Given the description of an element on the screen output the (x, y) to click on. 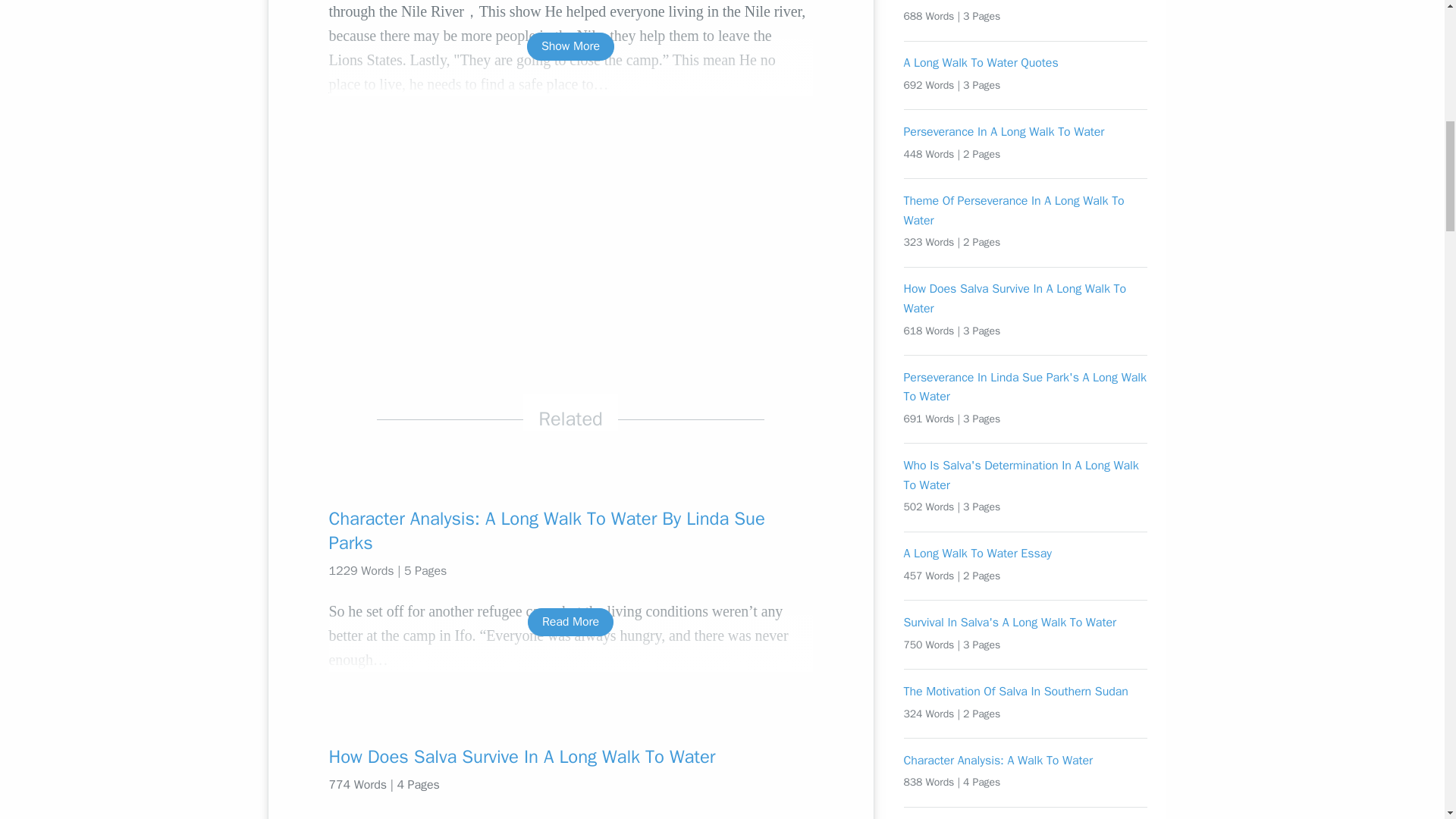
How Does Salva Survive In A Long Walk To Water (570, 756)
Read More (569, 622)
Show More (570, 46)
Character Analysis: A Long Walk To Water By Linda Sue Parks (570, 531)
